Given the description of an element on the screen output the (x, y) to click on. 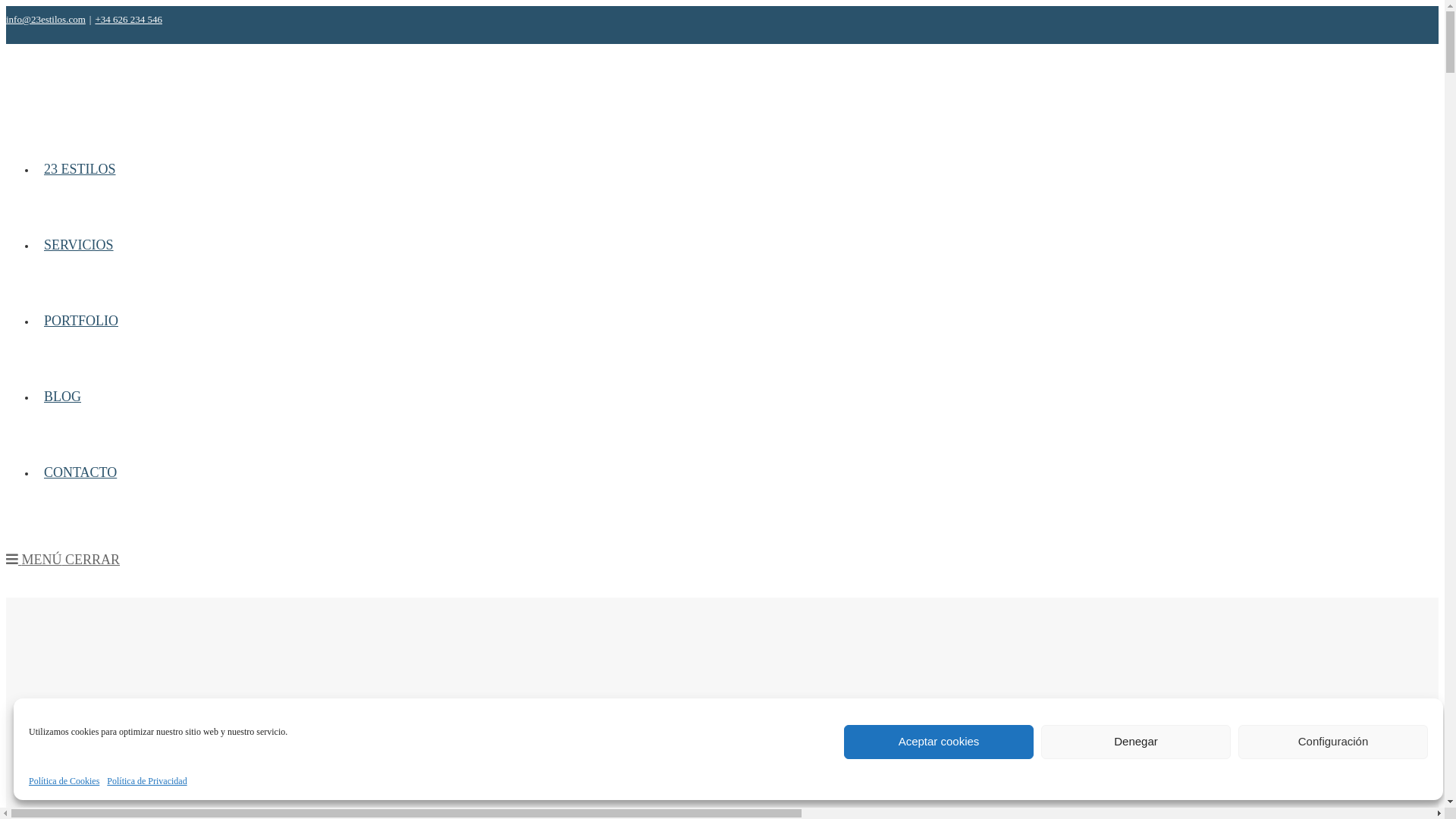
Saltar al contenido Element type: text (5, 5)
BLOG Element type: text (62, 395)
PORTFOLIO Element type: text (80, 319)
Denegar Element type: text (1135, 741)
23 ESTILOS Element type: text (79, 167)
CONTACTO Element type: text (80, 471)
info@23estilos.com Element type: text (45, 19)
Aceptar cookies Element type: text (938, 741)
+34 626 234 546 Element type: text (128, 19)
SERVICIOS Element type: text (78, 243)
